Given the description of an element on the screen output the (x, y) to click on. 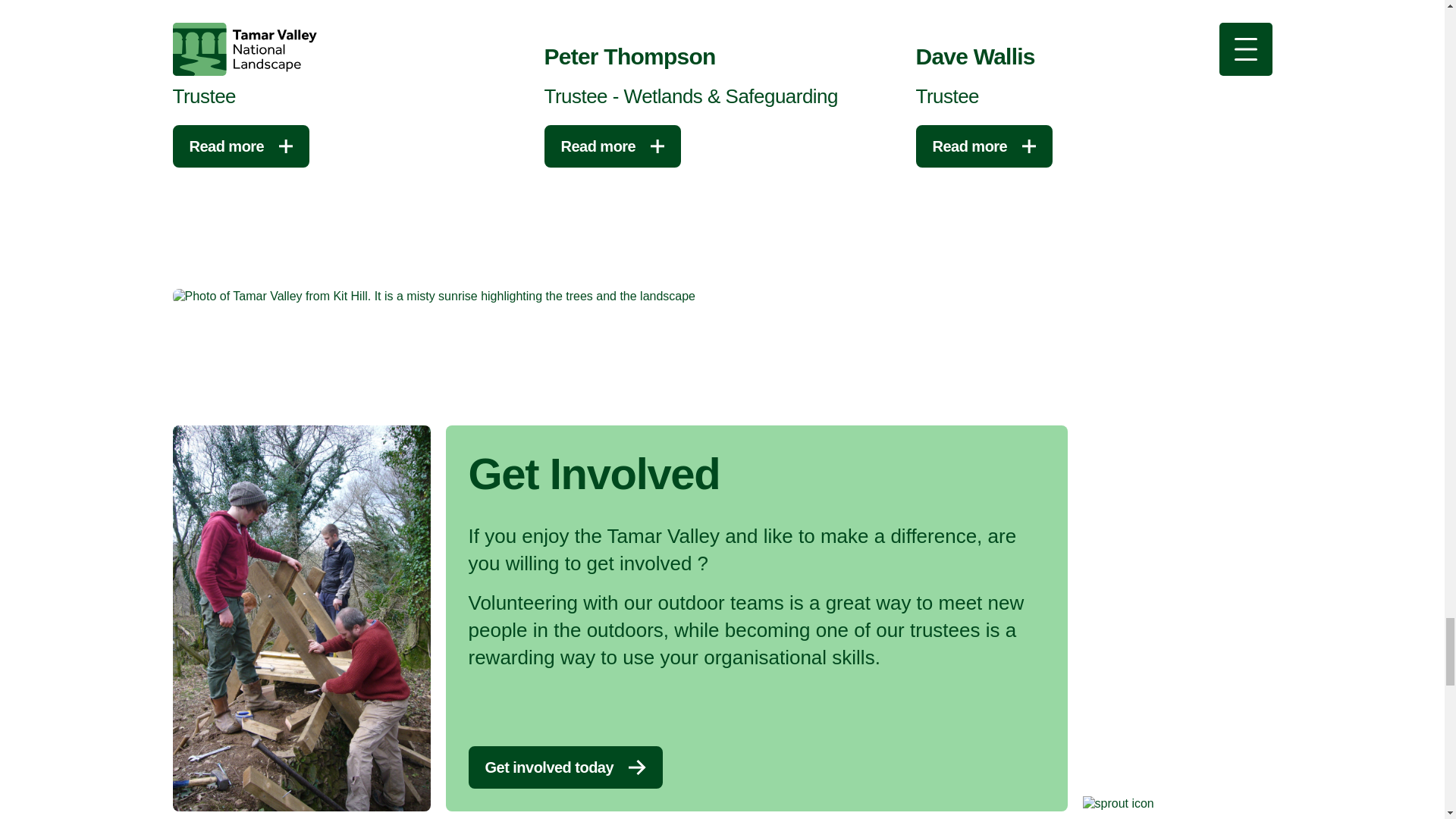
Get involved today (565, 767)
